Given the description of an element on the screen output the (x, y) to click on. 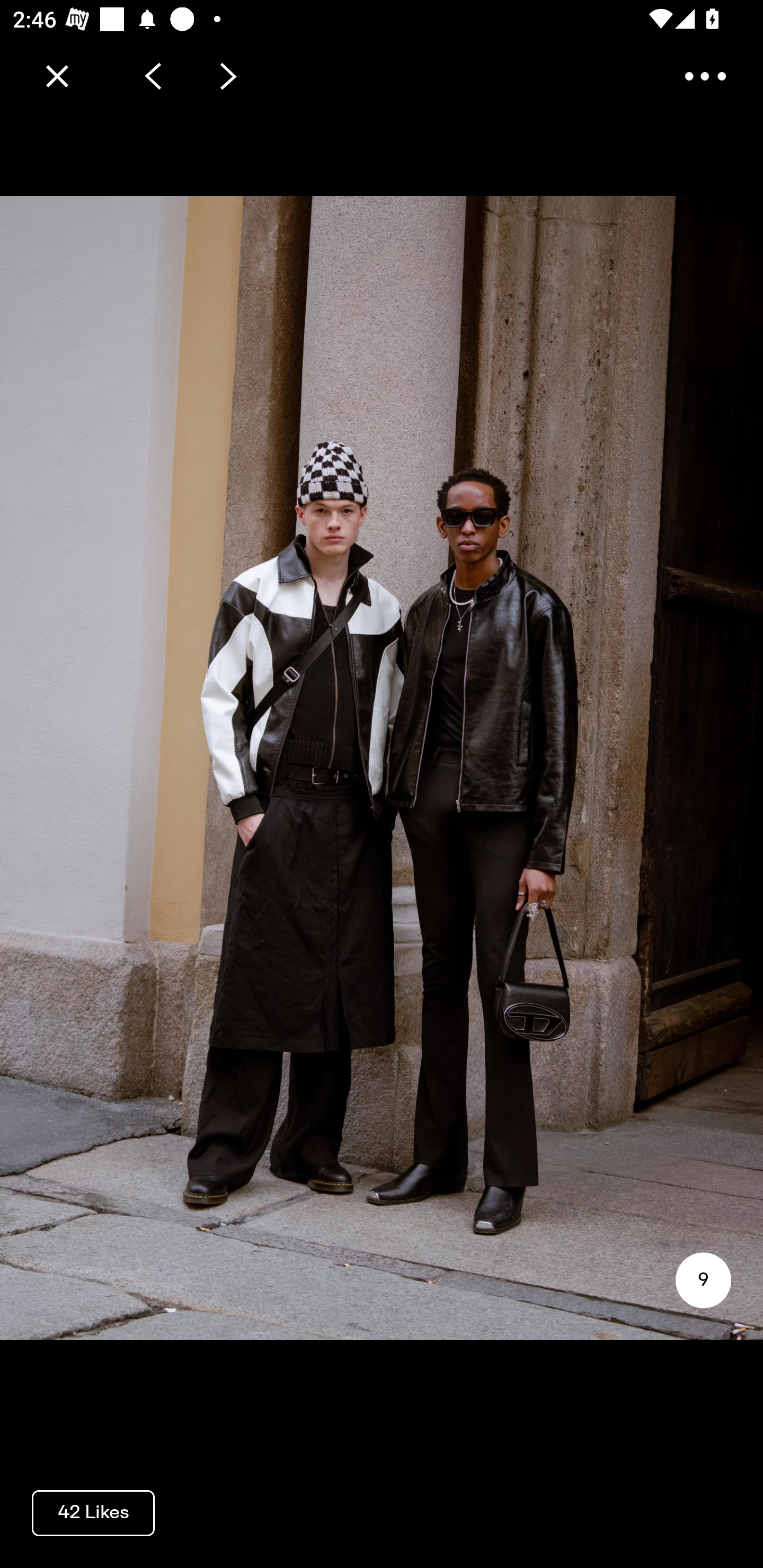
9 (702, 1279)
42 Likes (93, 1512)
